Given the description of an element on the screen output the (x, y) to click on. 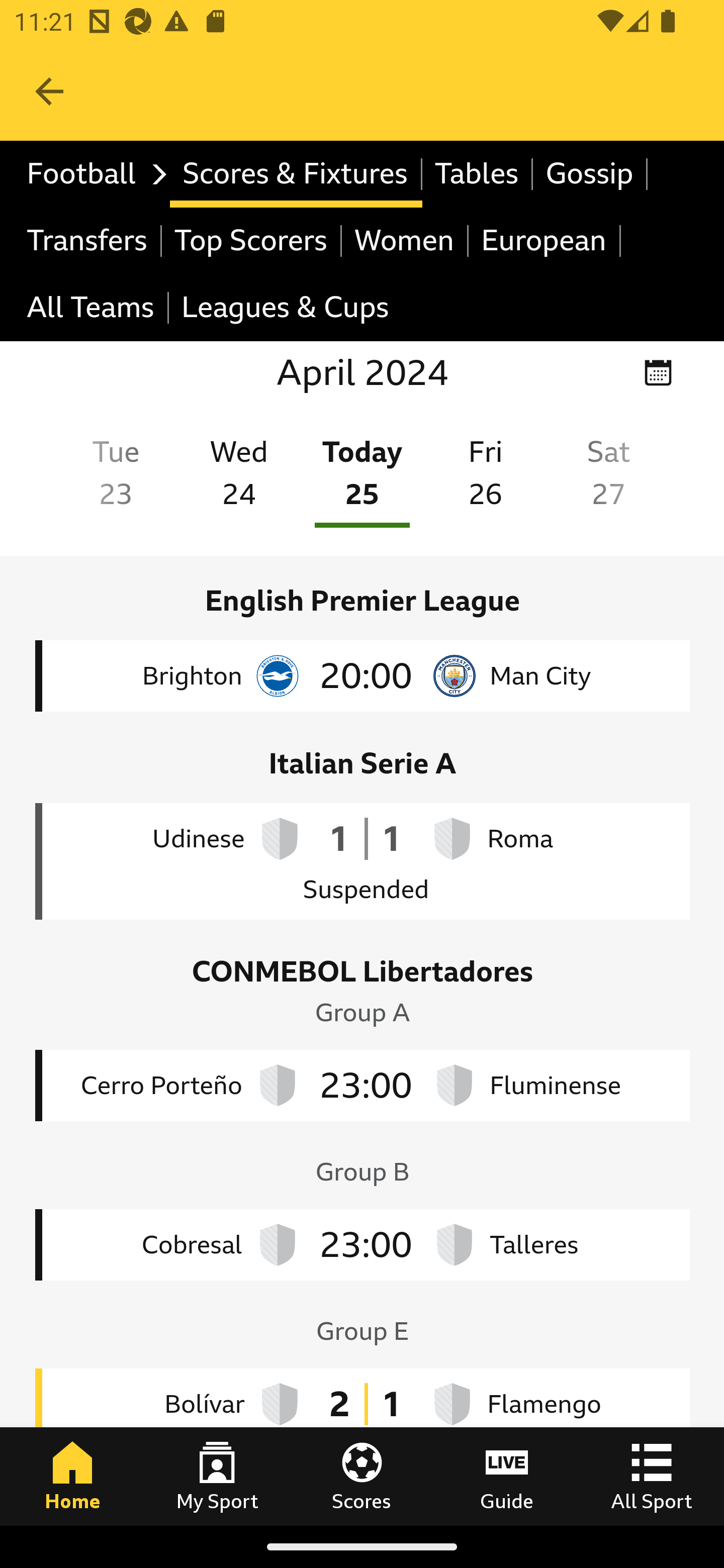
Navigate up (49, 91)
Football (91, 173)
Scores & Fixtures (295, 173)
Tables (477, 173)
Gossip (590, 173)
Transfers (88, 240)
Top Scorers (251, 240)
Women (405, 240)
European (544, 240)
All Teams (91, 308)
Leagues & Cups (284, 308)
My Sport (216, 1475)
Scores (361, 1475)
Guide (506, 1475)
All Sport (651, 1475)
